Given the description of an element on the screen output the (x, y) to click on. 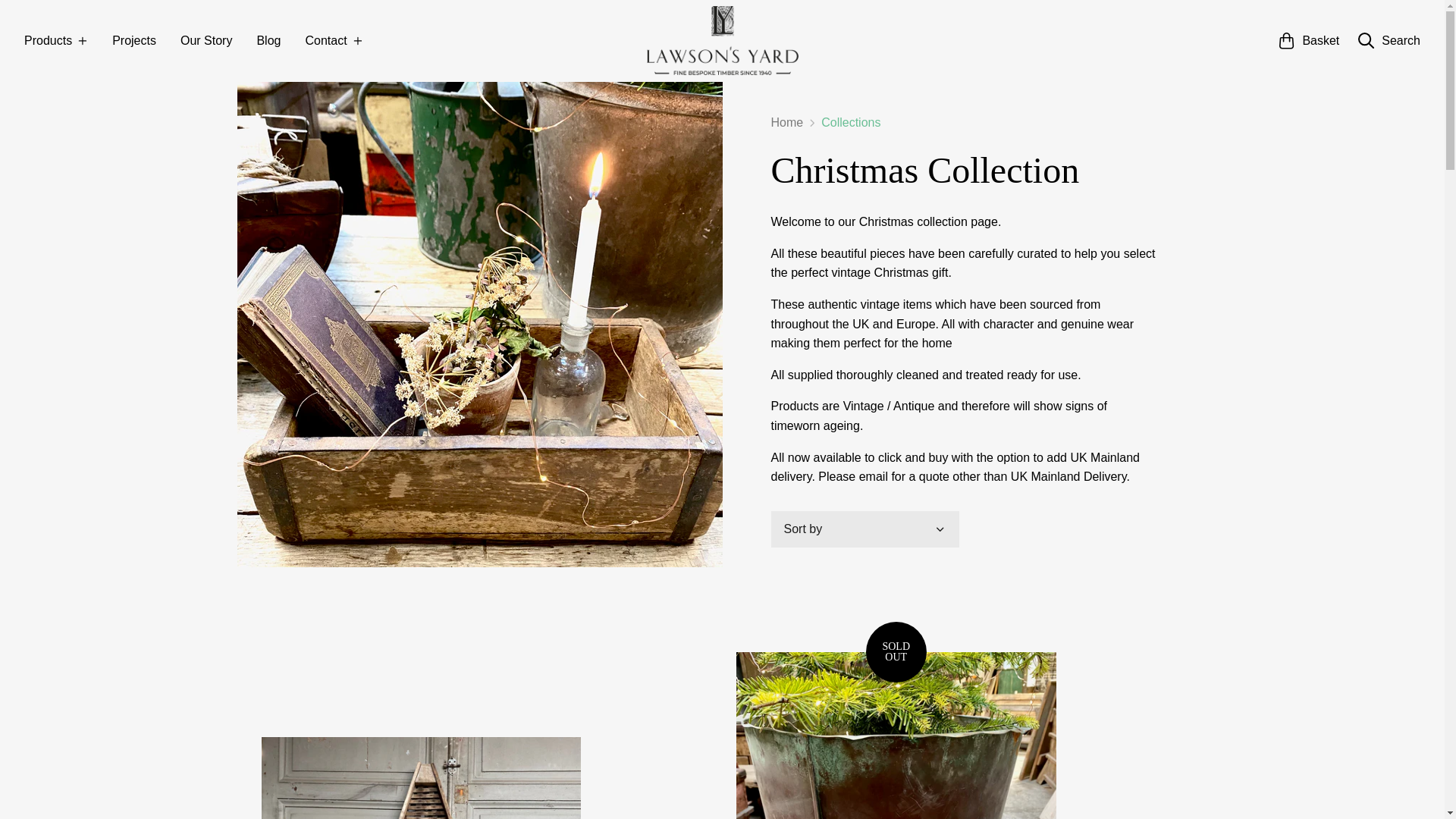
Search (1388, 40)
Products (55, 40)
Our Story (205, 40)
Blog (268, 40)
Projects (133, 40)
Basket (1308, 40)
Contact (333, 40)
